Given the description of an element on the screen output the (x, y) to click on. 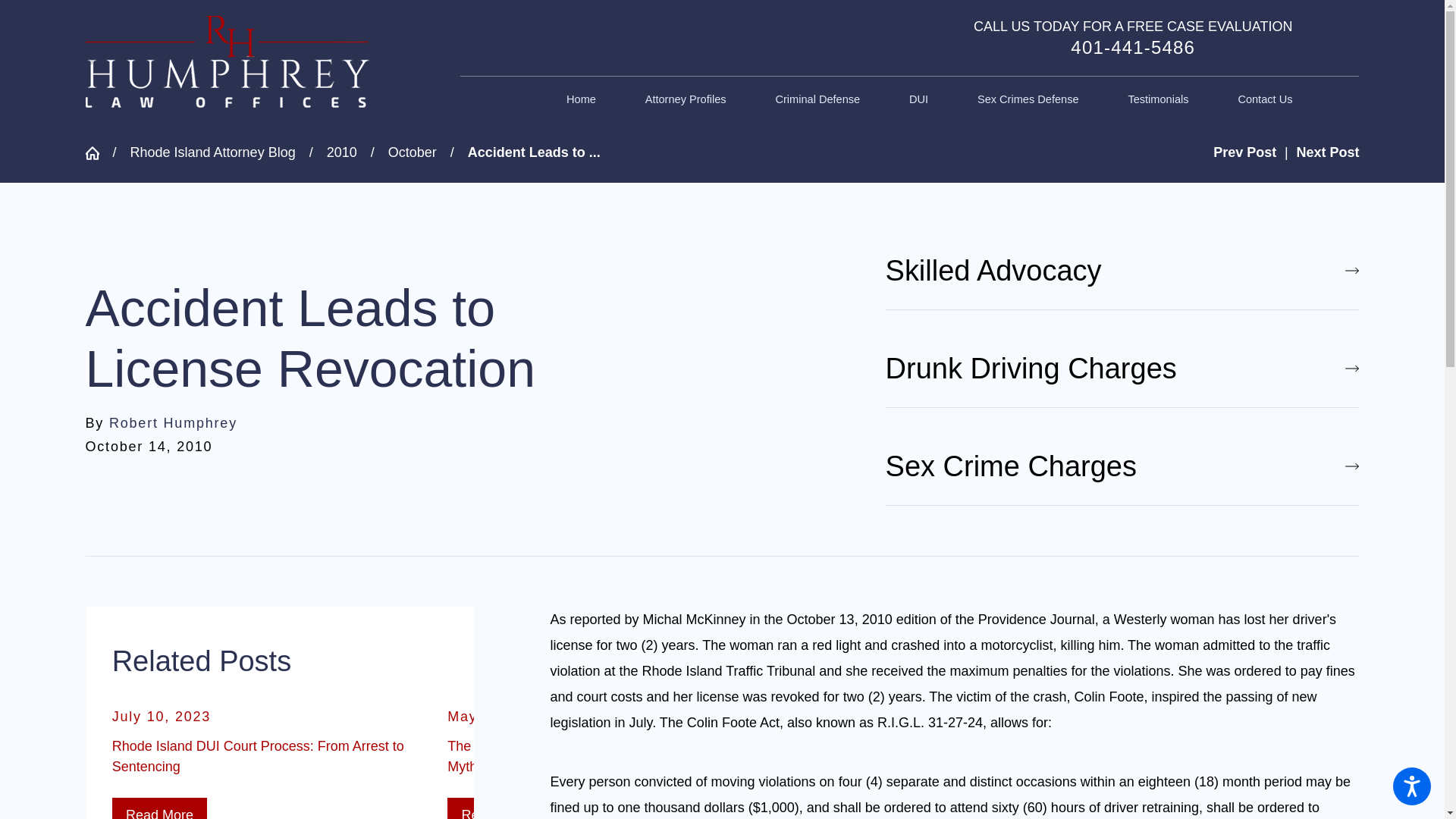
Go Home (98, 152)
Criminal Defense (817, 99)
401-441-5486 (1133, 47)
Attorney Profiles (685, 99)
Open the accessibility options menu (1412, 786)
Law Offices of Robert H. Humphrey (226, 61)
